Given the description of an element on the screen output the (x, y) to click on. 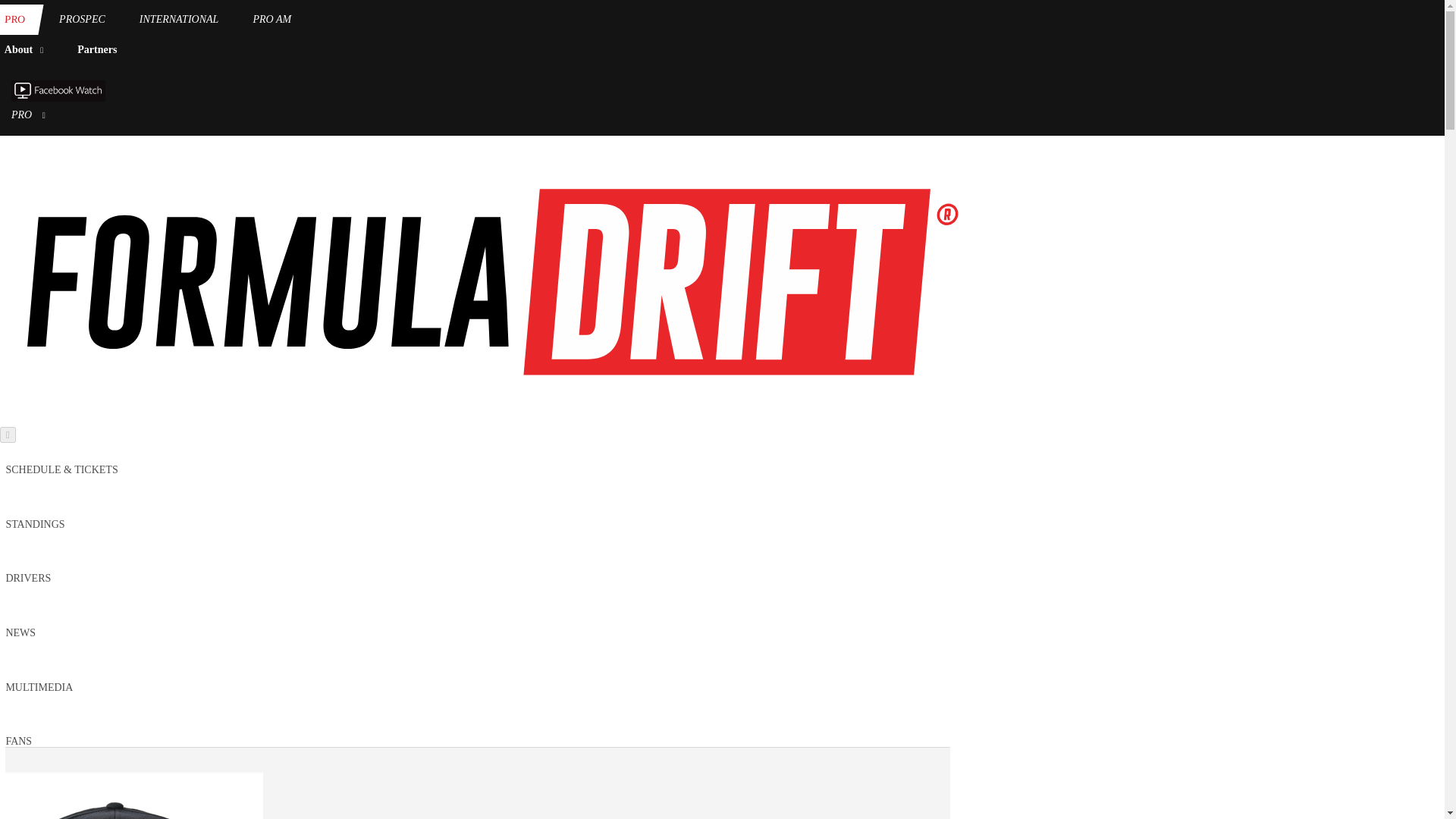
About   (27, 49)
STANDINGS (34, 523)
FANS (18, 740)
PROSPEC (81, 19)
PRO (17, 19)
DRIVERS (27, 577)
INTERNATIONAL (179, 19)
MULTIMEDIA (38, 686)
Partners (97, 49)
PRO AM (271, 19)
NEWS (19, 632)
